Given the description of an element on the screen output the (x, y) to click on. 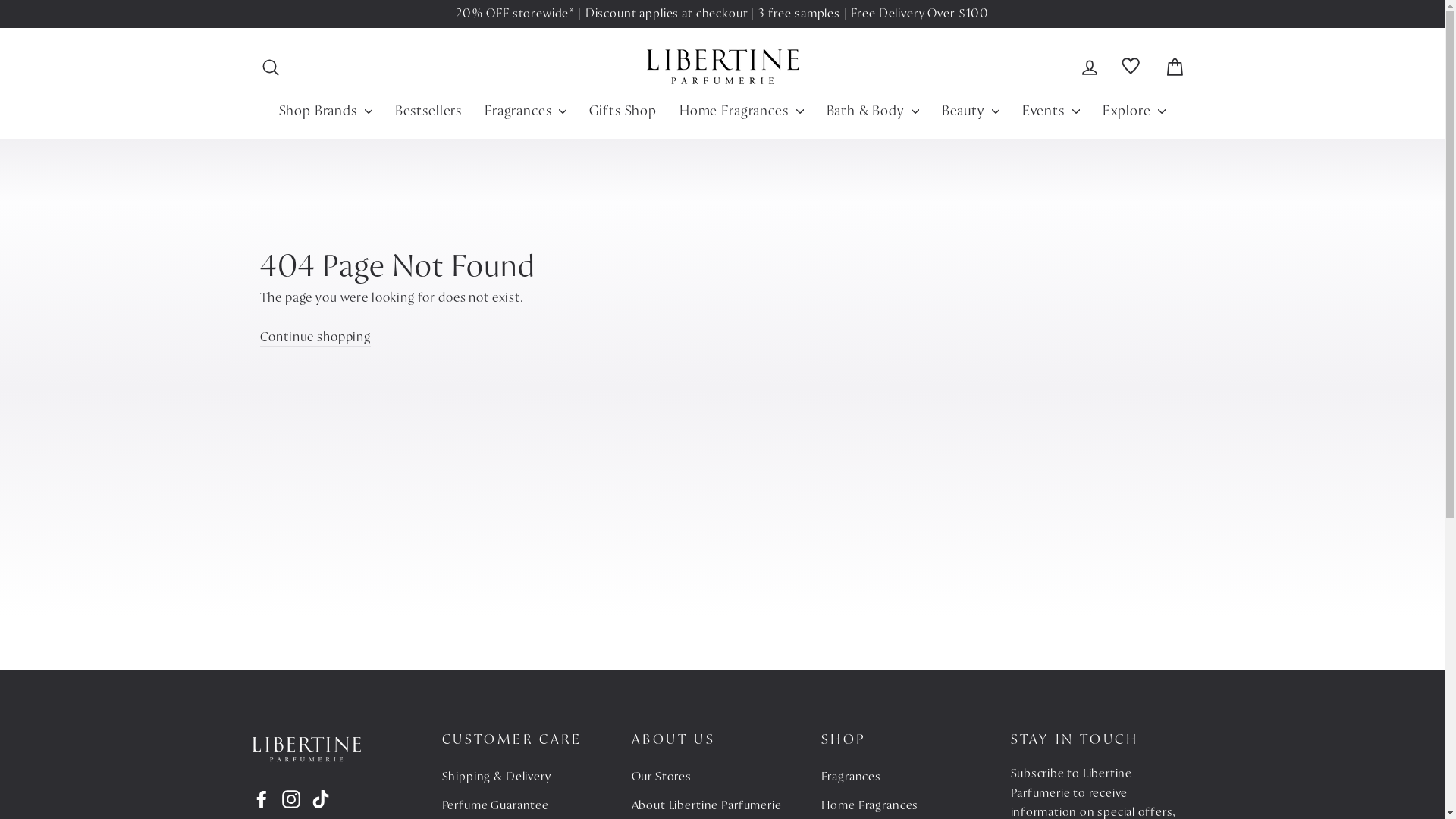
TikTok Element type: text (319, 798)
Continue shopping Element type: text (314, 337)
Our Stores Element type: text (717, 776)
Bestsellers Element type: text (428, 110)
Home Fragrances Element type: text (741, 110)
Instagram Element type: text (291, 798)
Home Fragrances Element type: text (907, 805)
Gifts Shop Element type: text (622, 110)
Fragrances Element type: text (907, 776)
Shop Brands Element type: text (325, 110)
Log in Element type: text (1089, 67)
Perfume Guarantee Element type: text (528, 805)
Shipping & Delivery Element type: text (528, 776)
Search Element type: text (269, 67)
Fragrances Element type: text (525, 110)
Events Element type: text (1050, 110)
About Libertine Parfumerie Element type: text (717, 805)
Skip to content Element type: text (0, 0)
Facebook Element type: text (260, 798)
Bath & Body Element type: text (872, 110)
Explore Element type: text (1134, 110)
My Bag Element type: text (1173, 67)
Beauty Element type: text (970, 110)
